Given the description of an element on the screen output the (x, y) to click on. 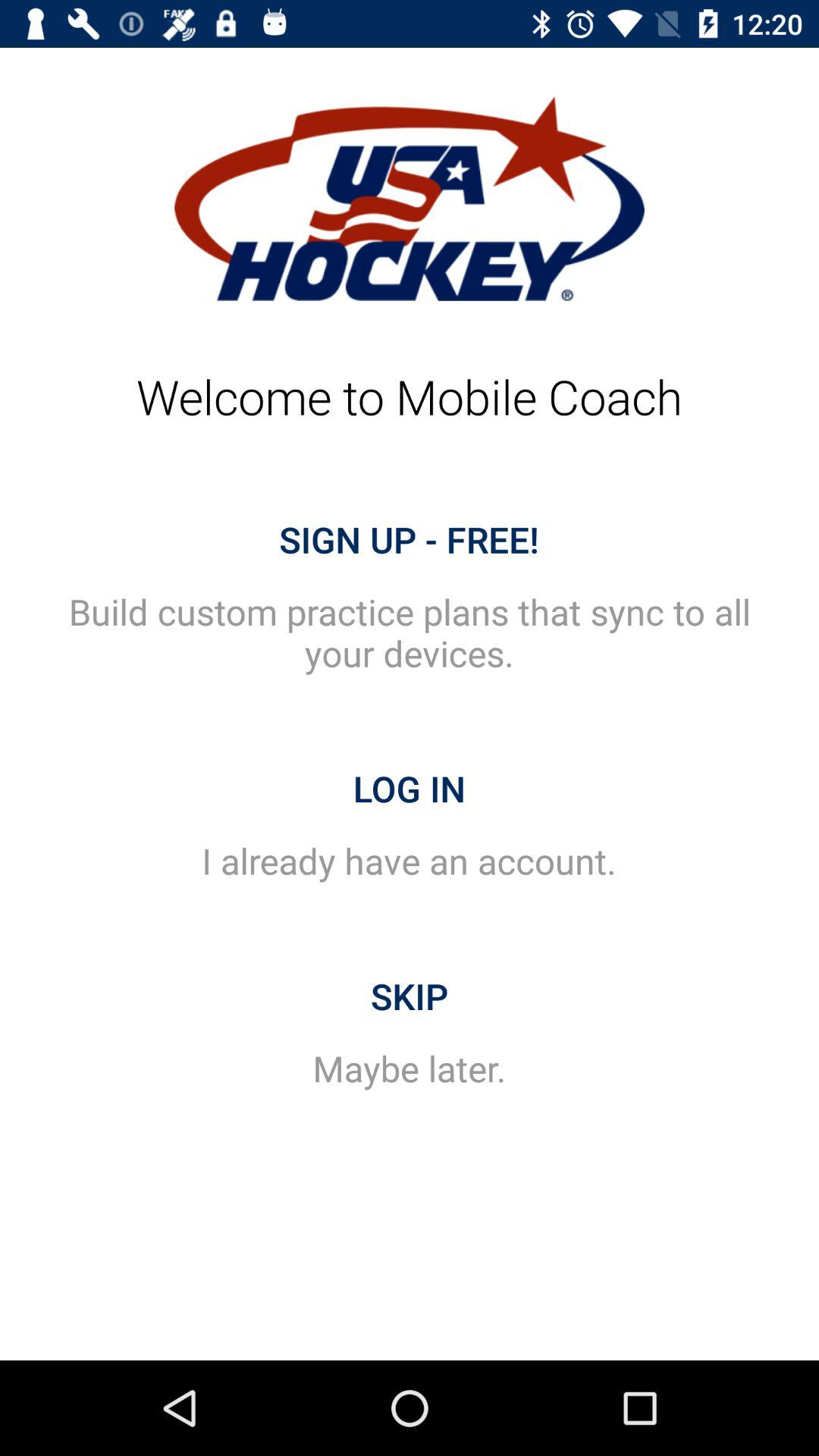
open item below the i already have (409, 996)
